Given the description of an element on the screen output the (x, y) to click on. 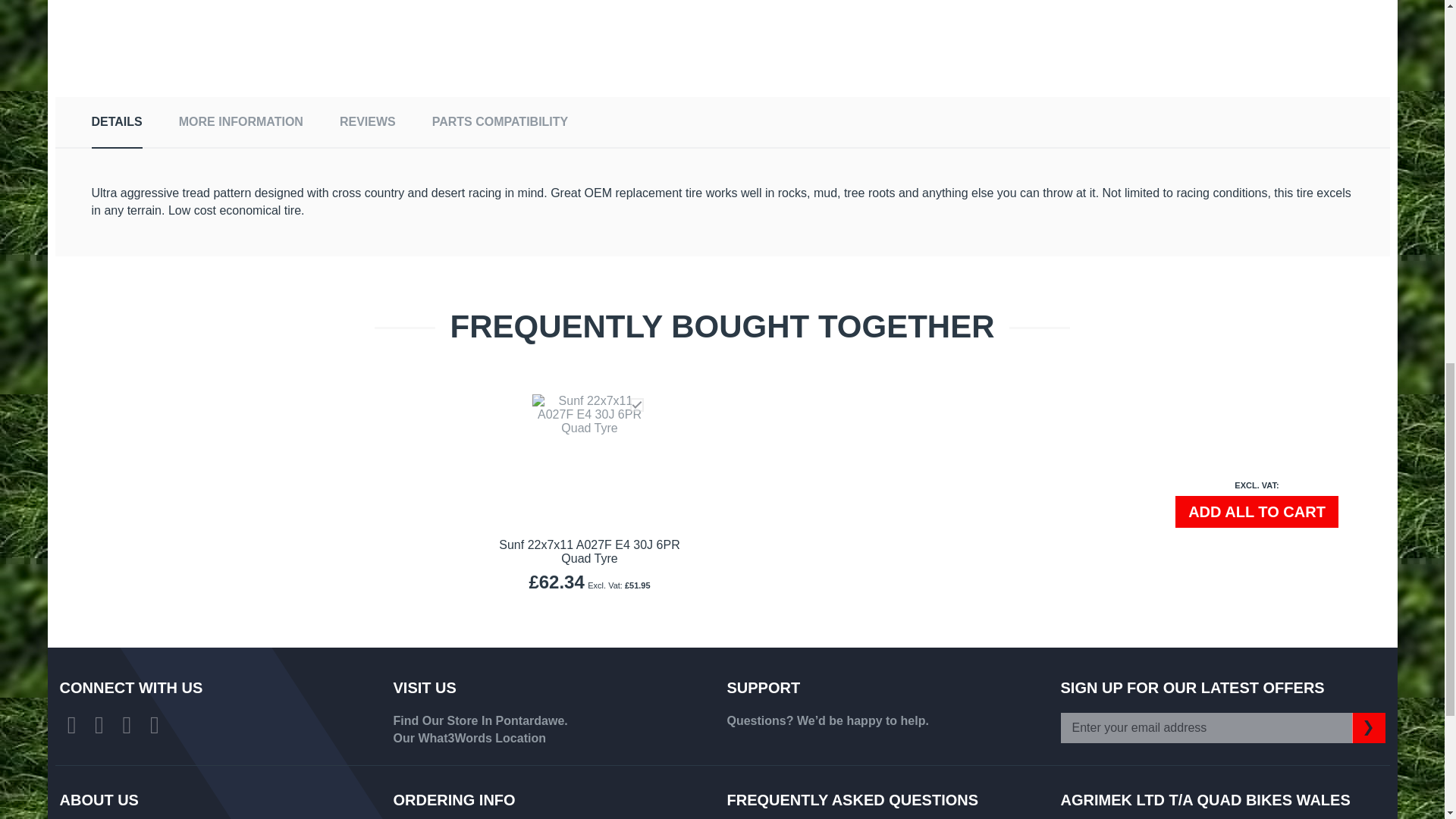
Subscribe (1367, 727)
Add to Cart (1256, 511)
Sunf 22x7x11 A027F E4 30J 6PR Quad Tyre (589, 551)
15170 (635, 404)
